Given the description of an element on the screen output the (x, y) to click on. 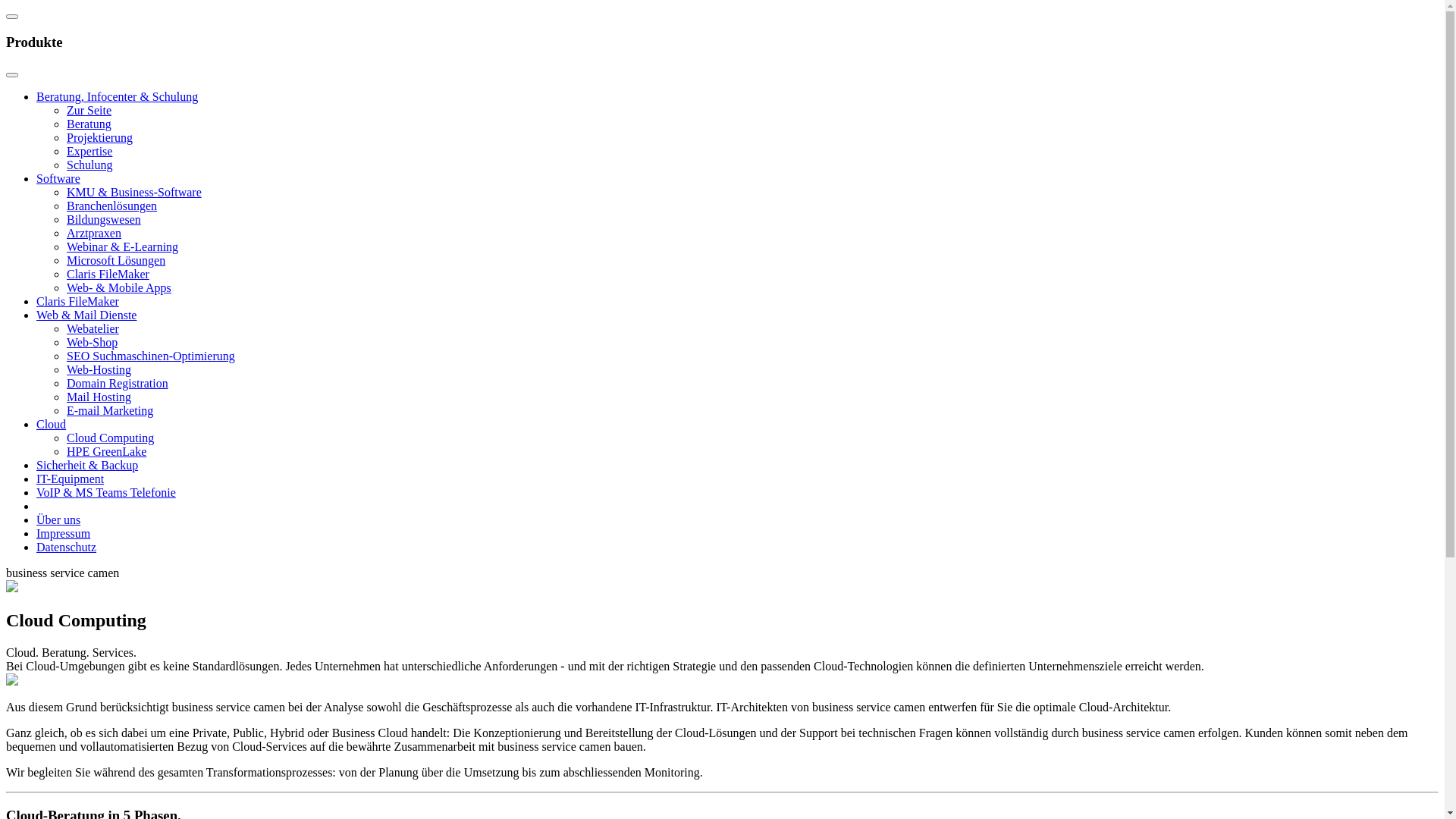
Seitenanfang Element type: hover (12, 16)
Web & Mail Dienste Element type: text (86, 314)
VoIP & MS Teams Telefonie Element type: text (105, 492)
Cloud Element type: text (50, 423)
Mail Hosting Element type: text (98, 396)
KMU & Business-Software Element type: text (133, 191)
E-mail Marketing Element type: text (109, 410)
HPE GreenLake Element type: text (106, 451)
Beratung, Infocenter & Schulung Element type: text (116, 96)
Projektierung Element type: text (99, 137)
Cloud Computing Element type: text (109, 437)
Sicherheit & Backup Element type: text (87, 464)
Schulung Element type: text (89, 164)
Claris FileMaker Element type: text (107, 273)
Claris FileMaker Element type: text (77, 300)
Web- & Mobile Apps Element type: text (118, 287)
Webatelier Element type: text (92, 328)
Software Element type: text (58, 178)
Expertise Element type: text (89, 150)
Beratung Element type: text (88, 123)
Bildungswesen Element type: text (103, 219)
Web-Shop Element type: text (91, 341)
Impressum Element type: text (63, 533)
Zur Seite Element type: text (88, 109)
Datenschutz Element type: text (66, 546)
Web-Hosting Element type: text (98, 369)
SEO Suchmaschinen-Optimierung Element type: text (150, 355)
Arztpraxen Element type: text (93, 232)
Webinar & E-Learning Element type: text (122, 246)
IT-Equipment Element type: text (69, 478)
Domain Registration Element type: text (117, 382)
